Given the description of an element on the screen output the (x, y) to click on. 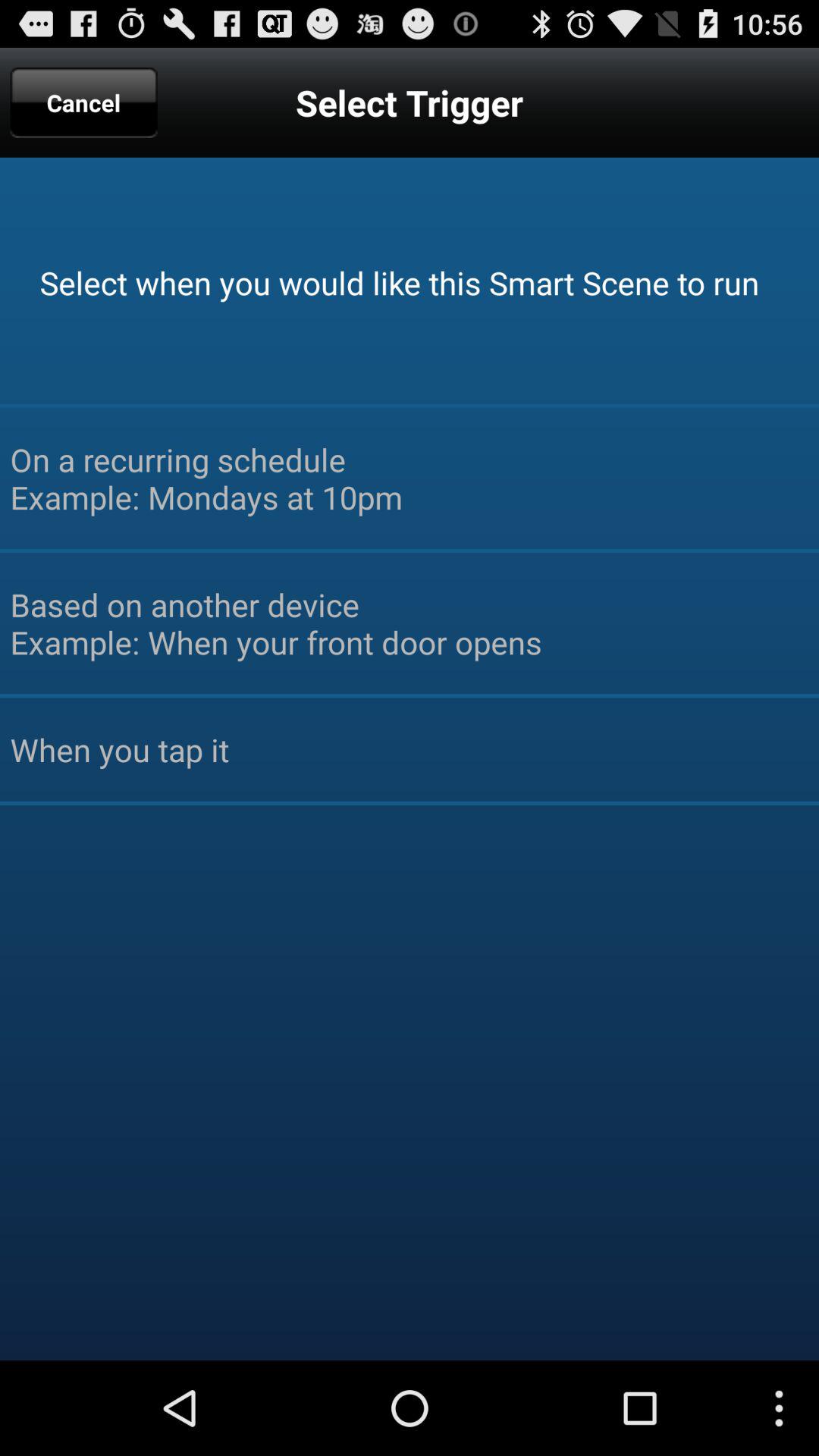
turn on cancel (83, 102)
